Given the description of an element on the screen output the (x, y) to click on. 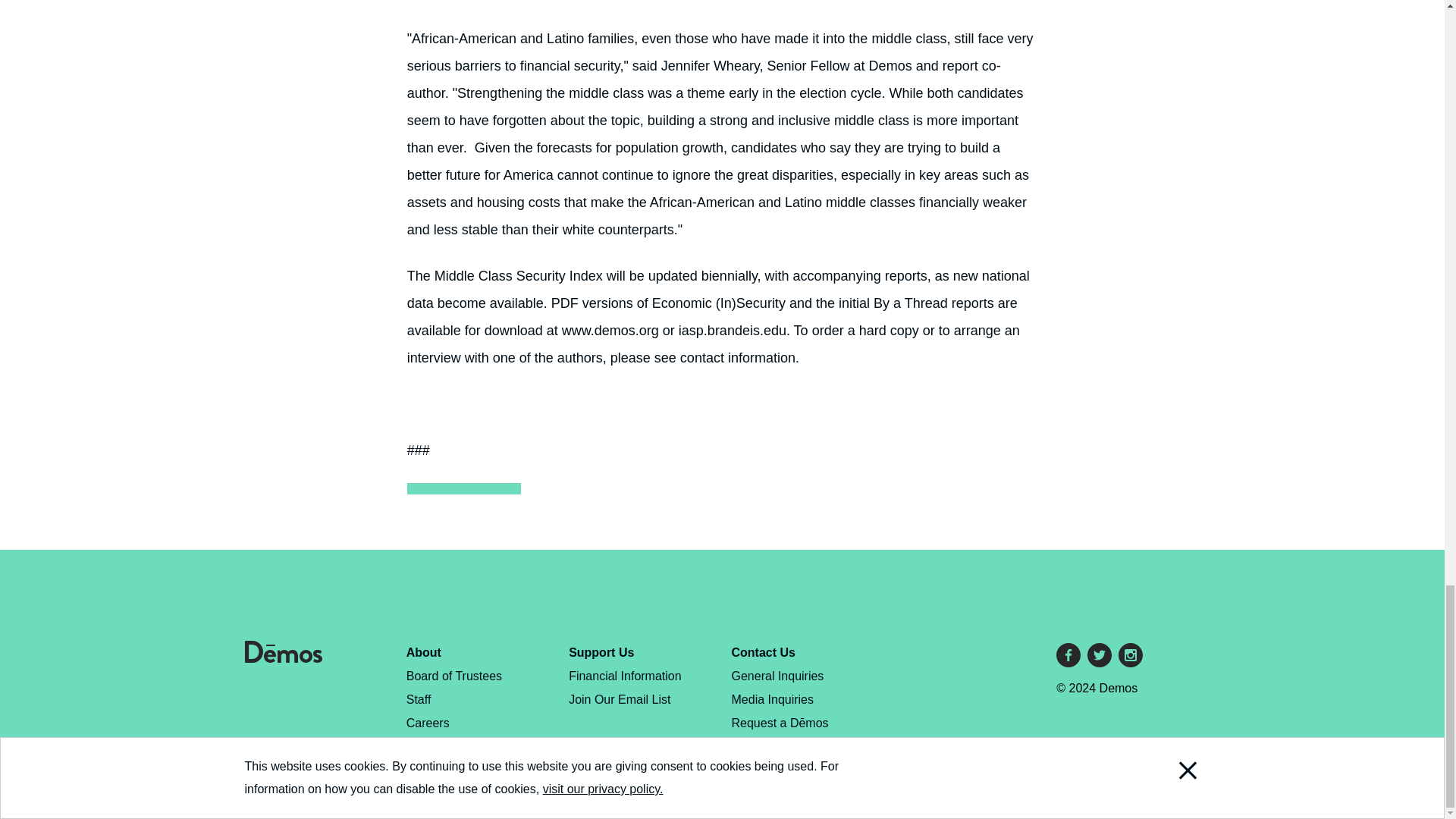
Home (282, 658)
Instagram (1130, 654)
About Demos (423, 652)
Financial Information (625, 675)
General Inquiries (778, 675)
Support Us (601, 652)
Media Inquiries (772, 698)
Careers (427, 722)
Privacy Policy (443, 746)
Facebook (1068, 654)
Twitter (1099, 654)
About (423, 652)
Board of Trustees (454, 675)
Complete a Demos speaker request (780, 734)
Reprint Permissions (460, 769)
